Given the description of an element on the screen output the (x, y) to click on. 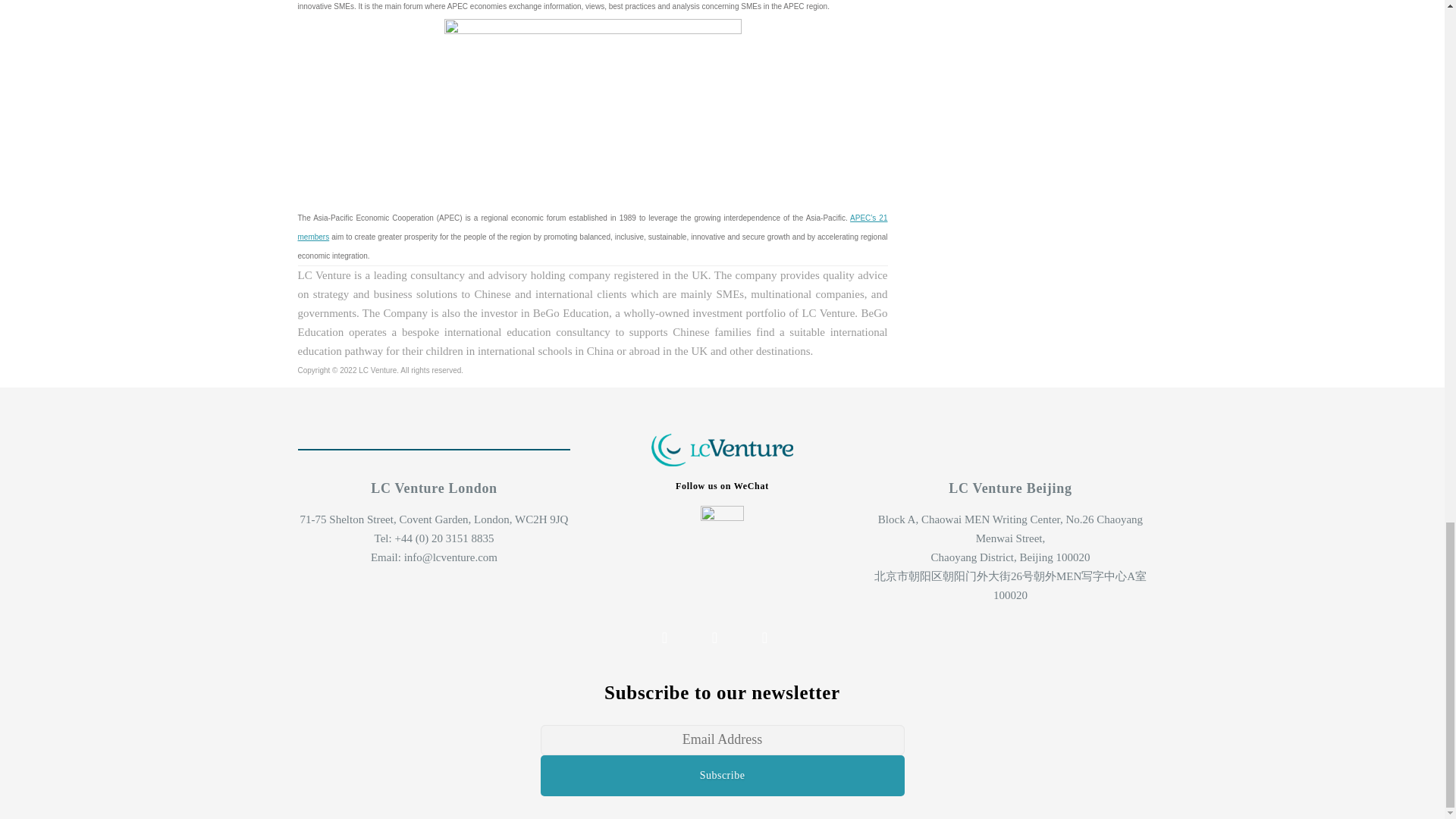
Subscribe (722, 775)
